Given the description of an element on the screen output the (x, y) to click on. 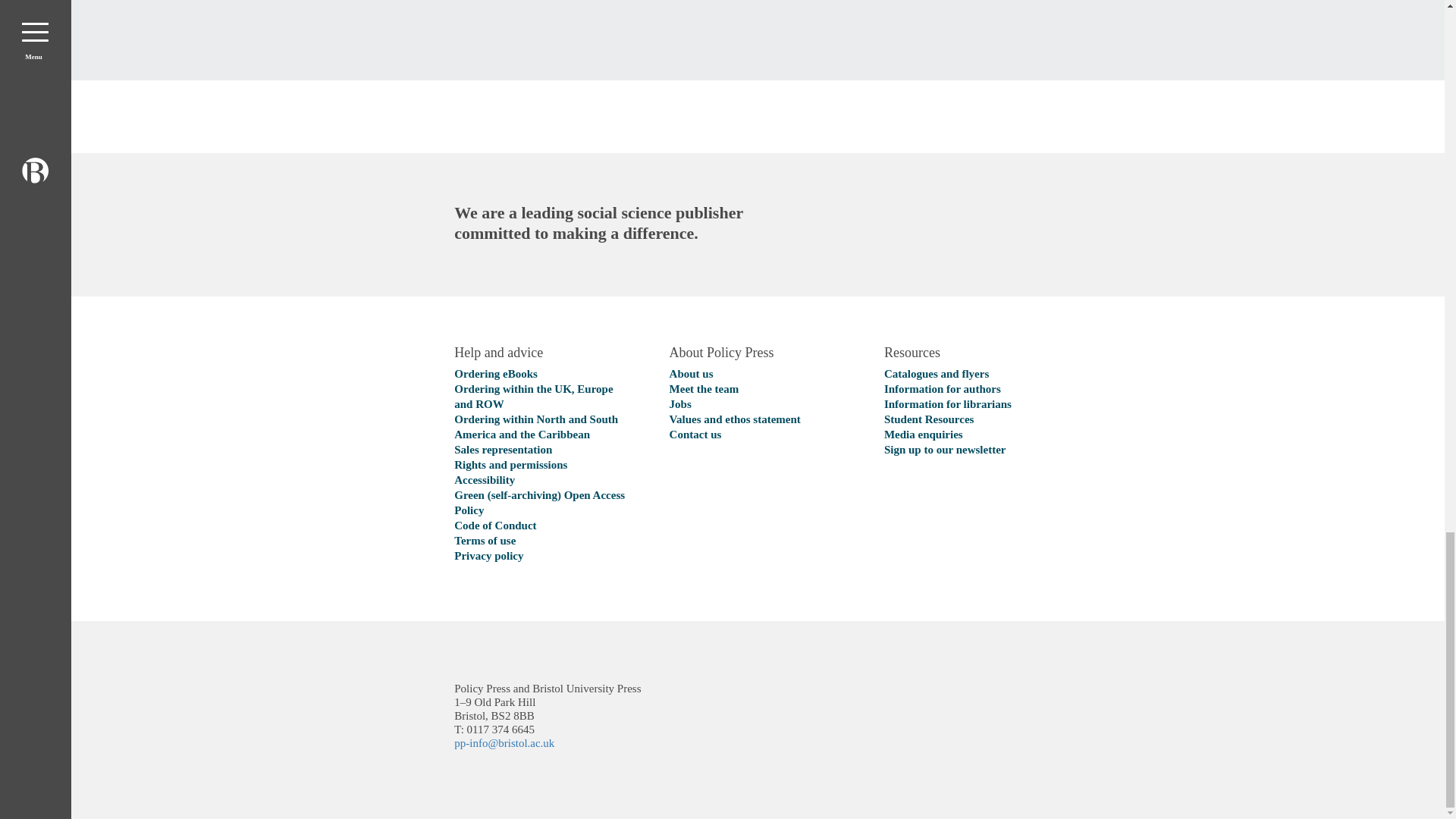
Instagram page (912, 699)
Twitter page (752, 699)
YouTube page (806, 699)
LinkedIn page (859, 699)
Facebook page (699, 699)
